Given the description of an element on the screen output the (x, y) to click on. 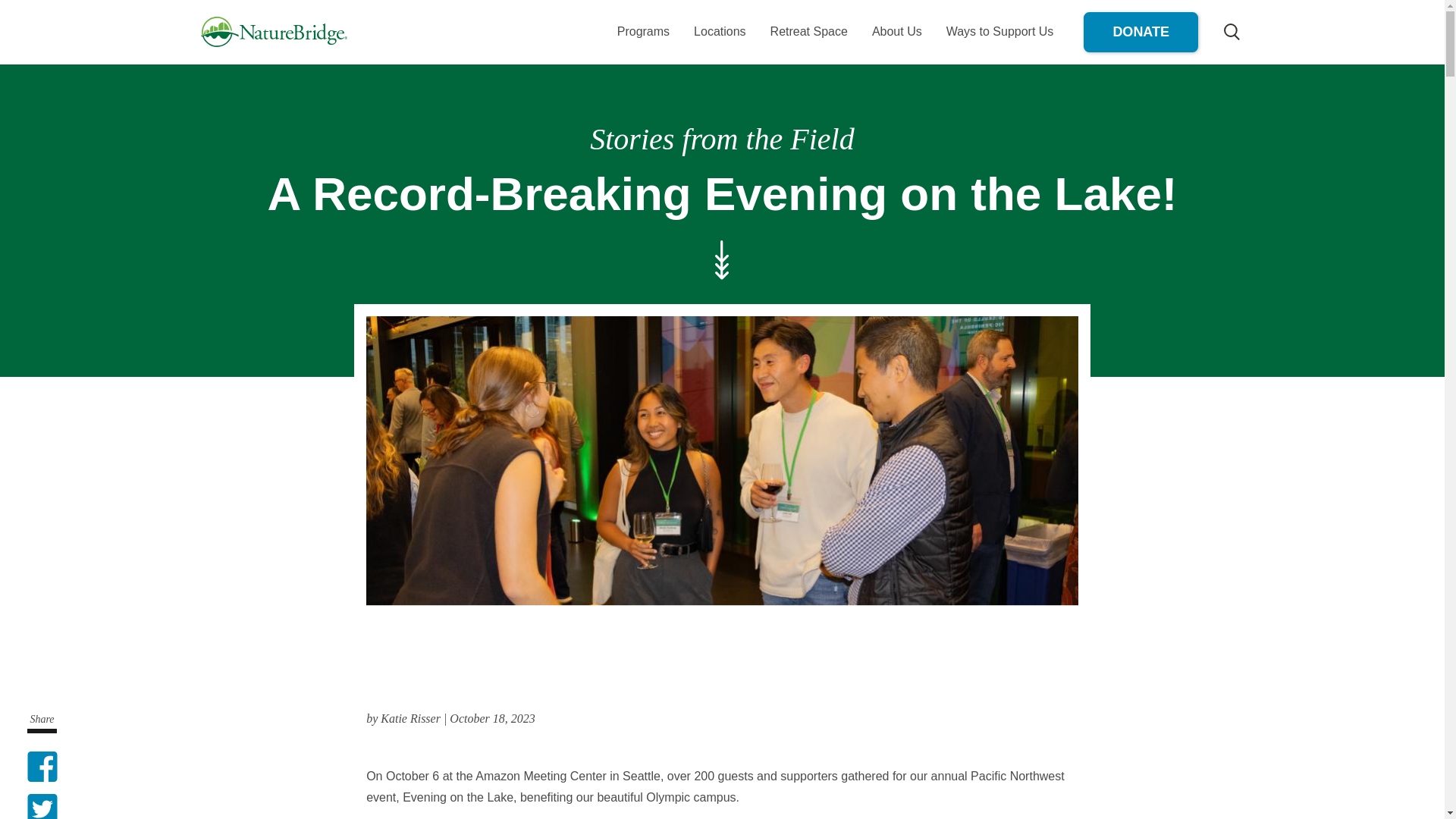
Retreat Space (809, 31)
Programs (643, 31)
search Created with Sketch. (1232, 31)
About Us (897, 31)
Ways to Support Us (999, 31)
Wednesday, October 18, 2023 - 13:04 (491, 717)
Locations (719, 31)
